Given the description of an element on the screen output the (x, y) to click on. 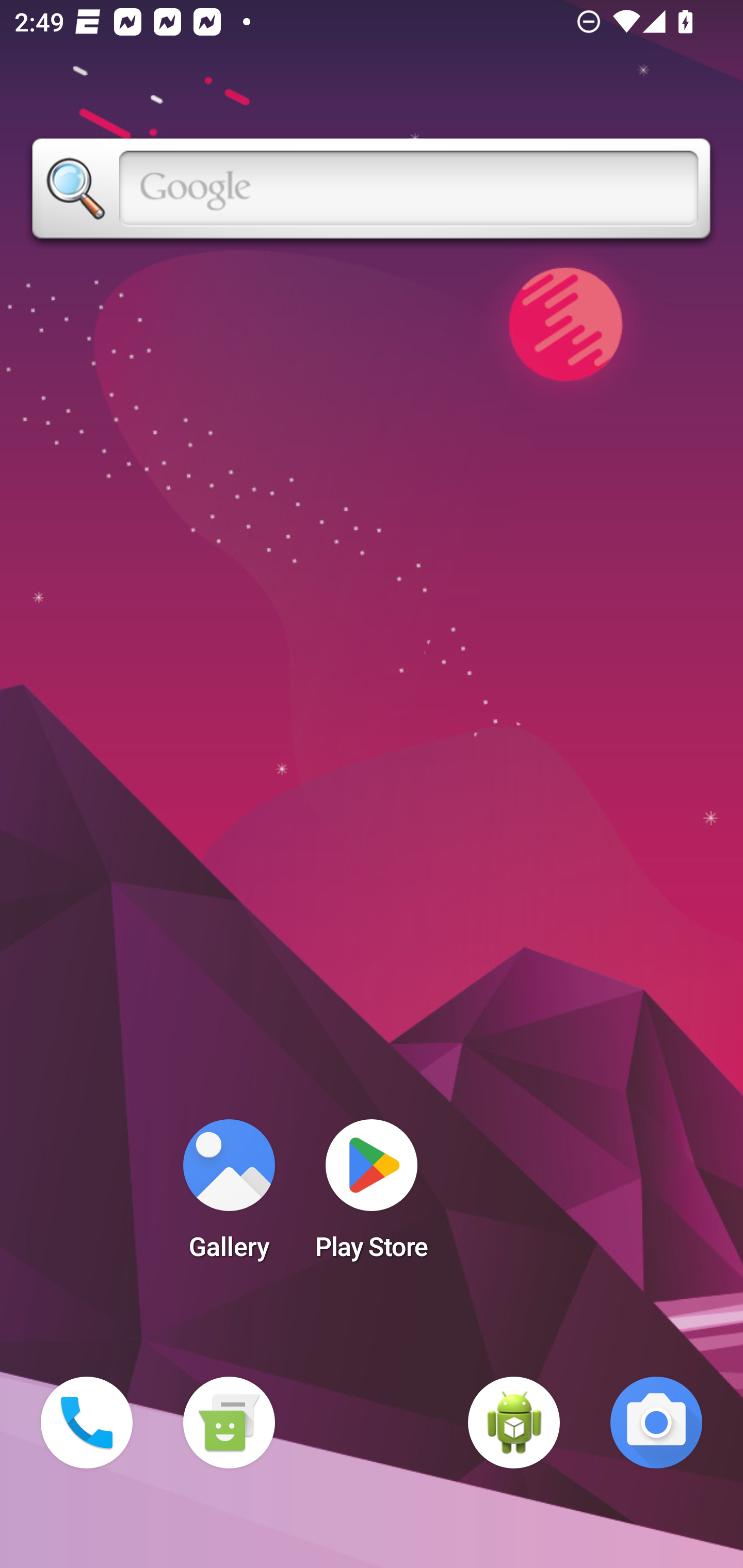
Gallery (228, 1195)
Play Store (371, 1195)
Phone (86, 1422)
Messaging (228, 1422)
WebView Browser Tester (513, 1422)
Camera (656, 1422)
